Given the description of an element on the screen output the (x, y) to click on. 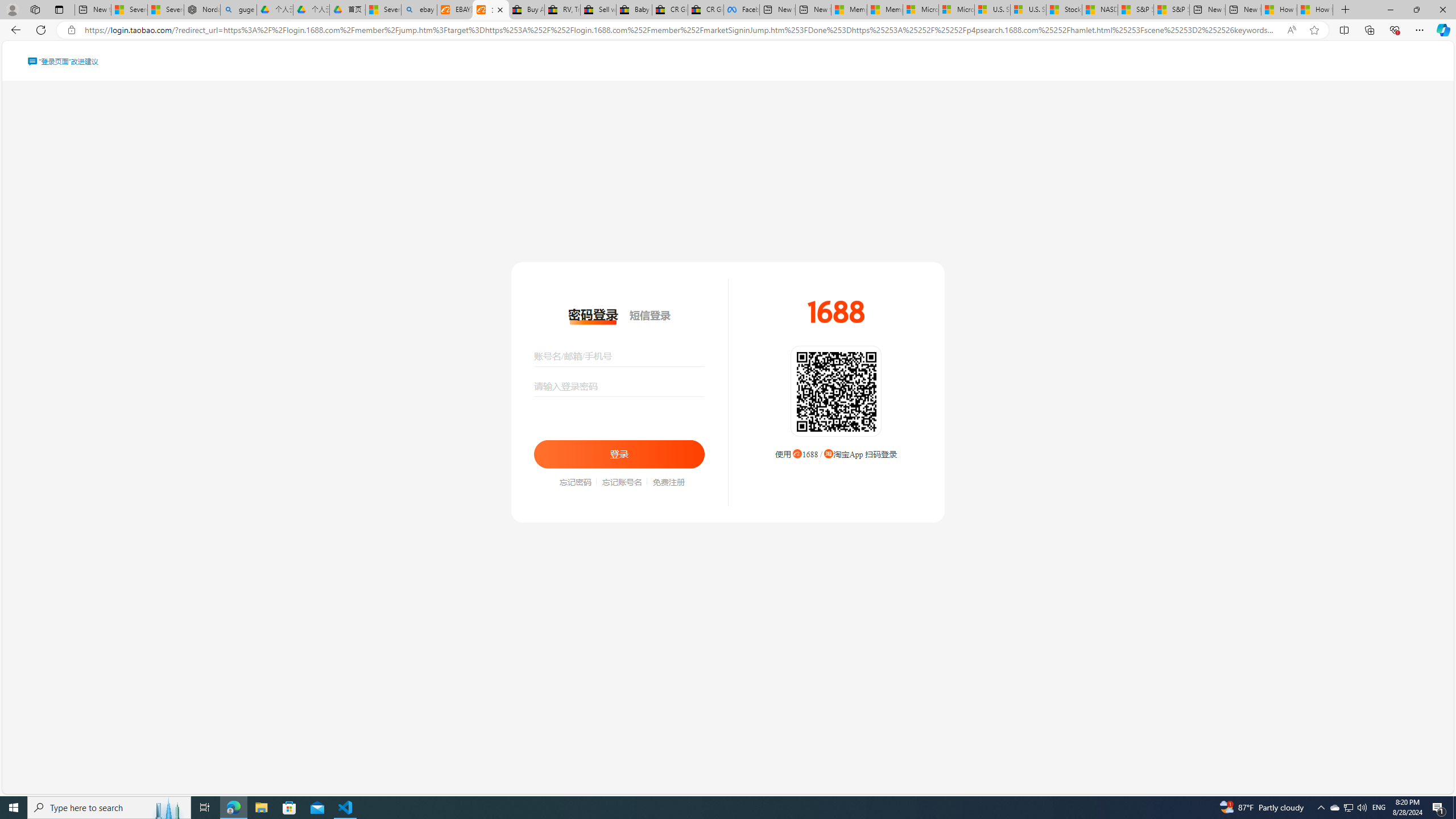
App bar (728, 29)
To get missing image descriptions, open the context menu. (836, 311)
RV, Trailer & Camper Steps & Ladders for sale | eBay (562, 9)
